Given the description of an element on the screen output the (x, y) to click on. 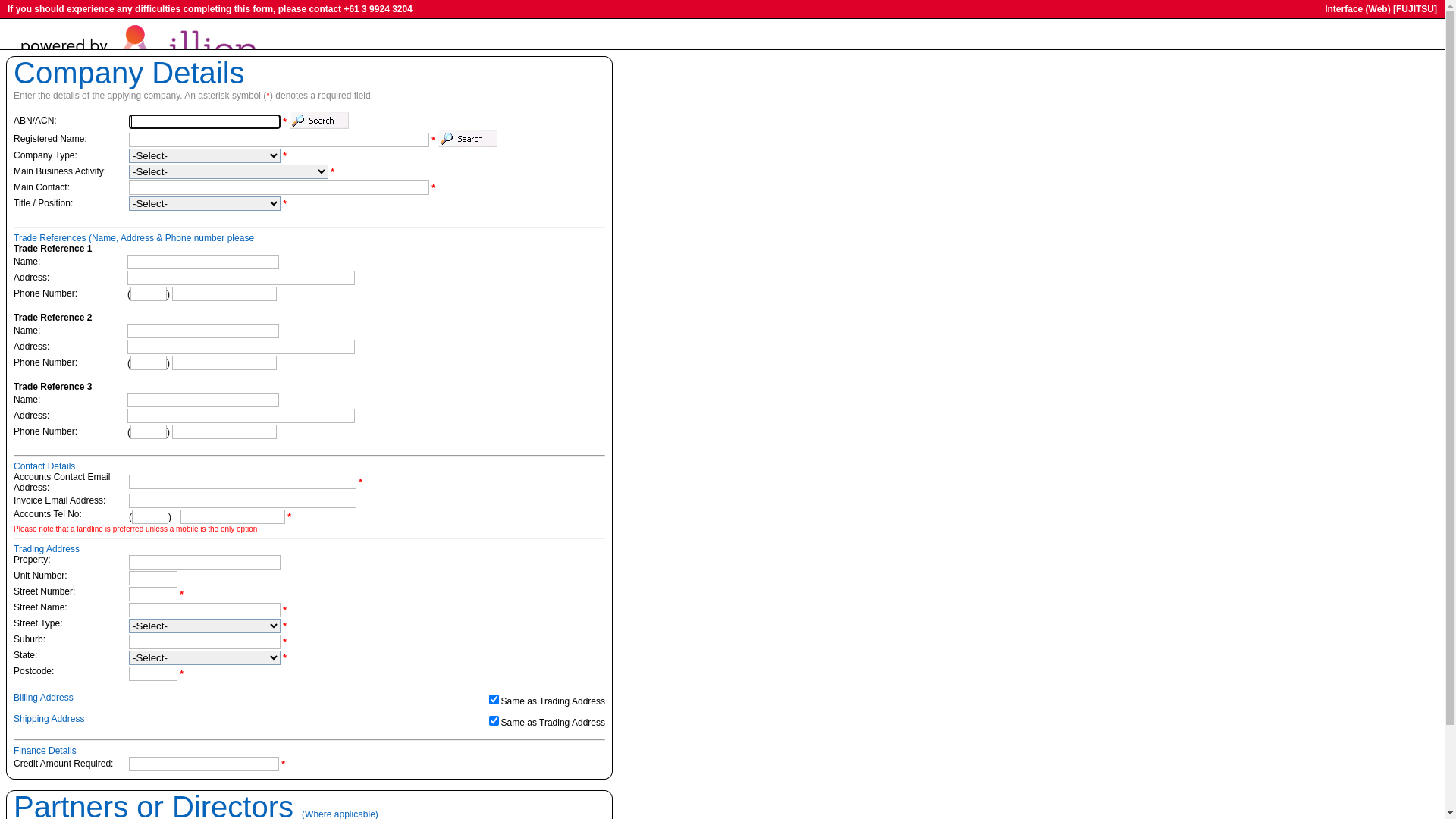
on Element type: text (493, 699)
Property Name Element type: hover (204, 562)
Suburb Element type: hover (204, 640)
on Element type: text (493, 720)
Unit Number Element type: hover (152, 577)
Street Number Element type: hover (152, 593)
Postcode Element type: hover (152, 672)
Street Name Element type: hover (204, 609)
